Given the description of an element on the screen output the (x, y) to click on. 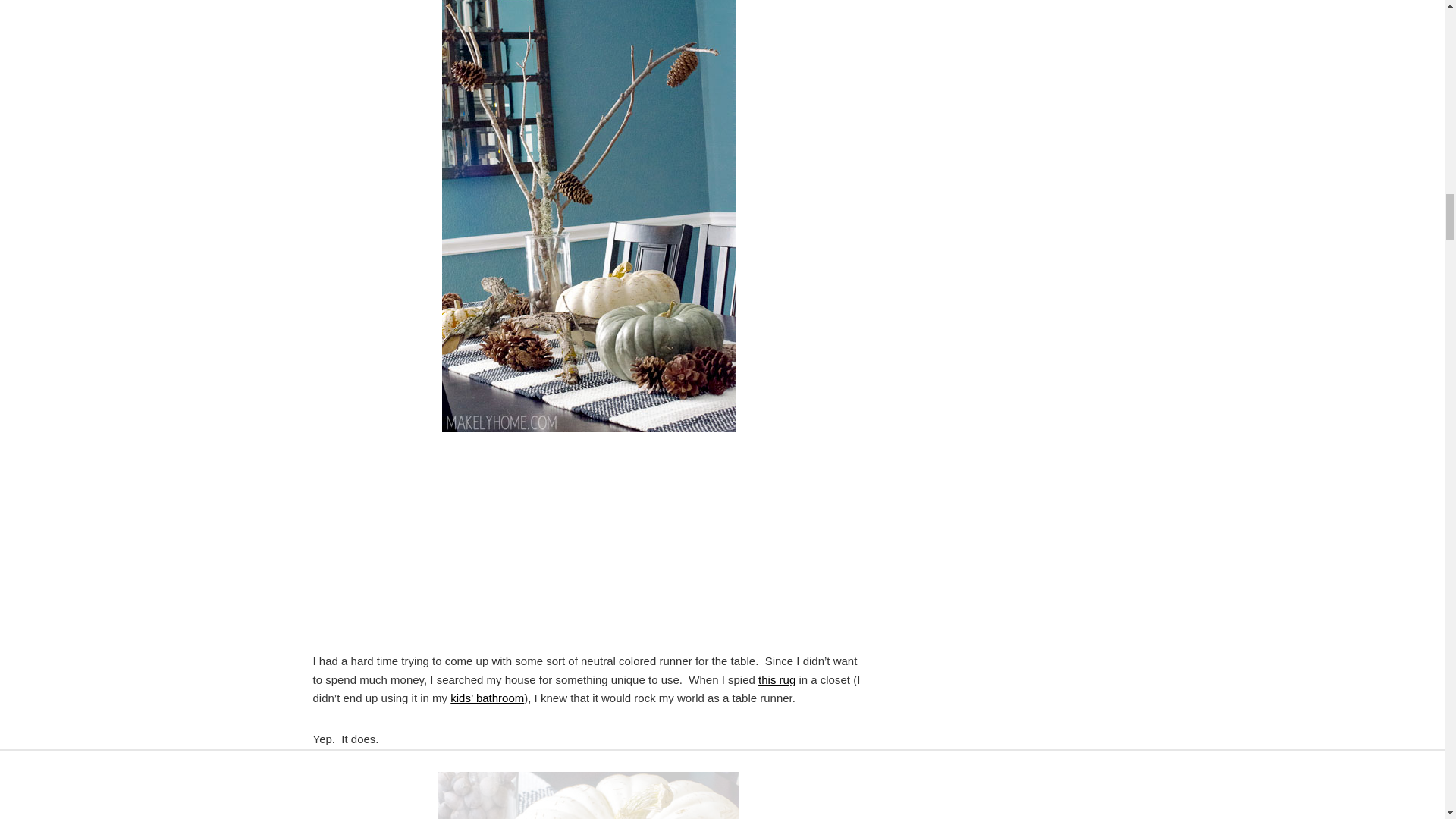
this rug (776, 679)
